Given the description of an element on the screen output the (x, y) to click on. 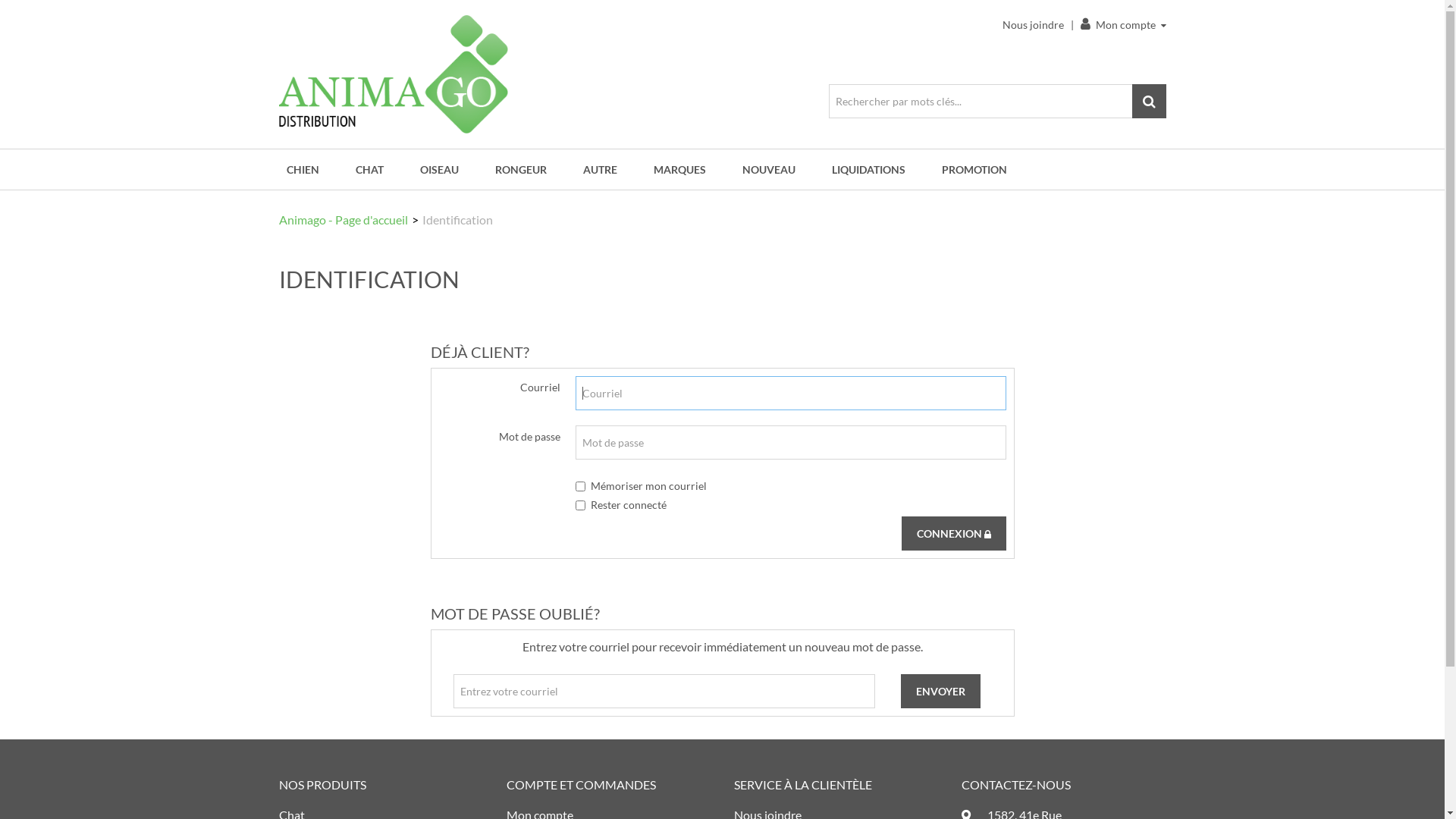
CHIEN Element type: text (308, 169)
MARQUES Element type: text (679, 169)
LIQUIDATIONS Element type: text (867, 169)
NOUVEAU Element type: text (767, 169)
NOS PRODUITS Element type: text (322, 784)
PROMOTION Element type: text (968, 169)
RONGEUR Element type: text (520, 169)
Animago Element type: hover (393, 74)
AUTRE Element type: text (599, 169)
Mon compte Element type: text (1122, 24)
CHAT Element type: text (368, 169)
ENVOYER Element type: text (940, 691)
Animago - Page d'accueil Element type: text (343, 219)
OISEAU Element type: text (438, 169)
COMPTE ET COMMANDES Element type: text (580, 784)
CONNEXION Element type: text (952, 533)
Nous joindre Element type: text (1032, 24)
